Given the description of an element on the screen output the (x, y) to click on. 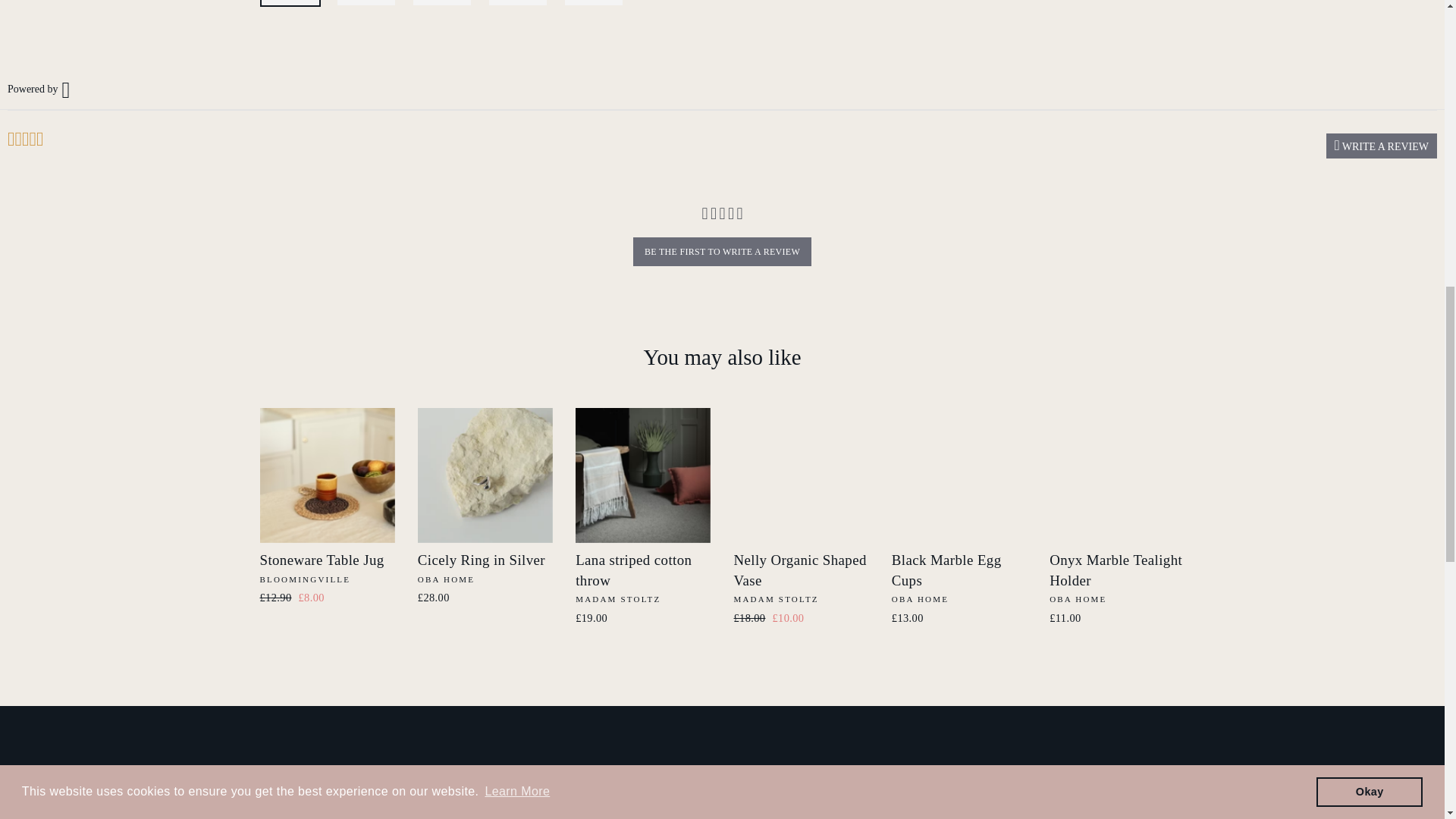
Oba Home on Instagram (298, 775)
Oba Home on Facebook (268, 775)
